Given the description of an element on the screen output the (x, y) to click on. 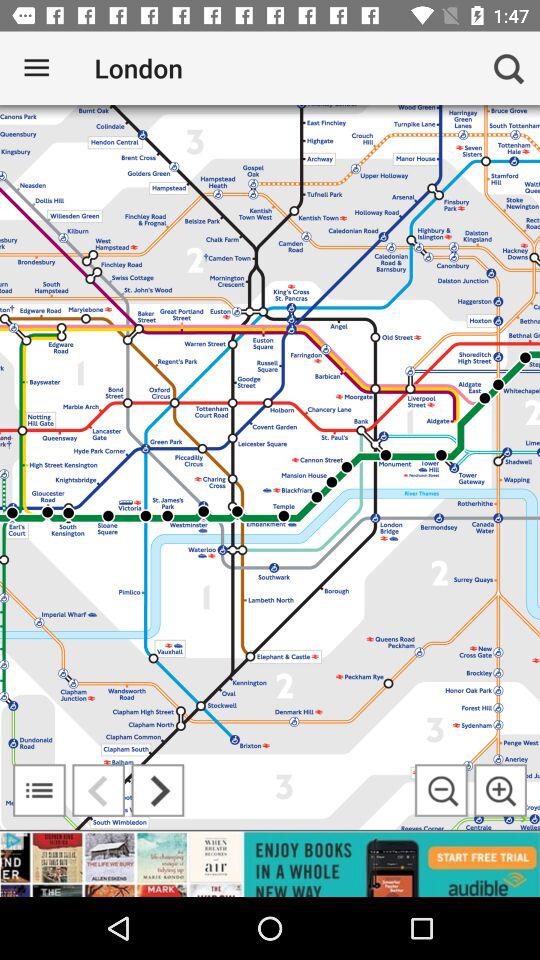
go back (98, 790)
